Given the description of an element on the screen output the (x, y) to click on. 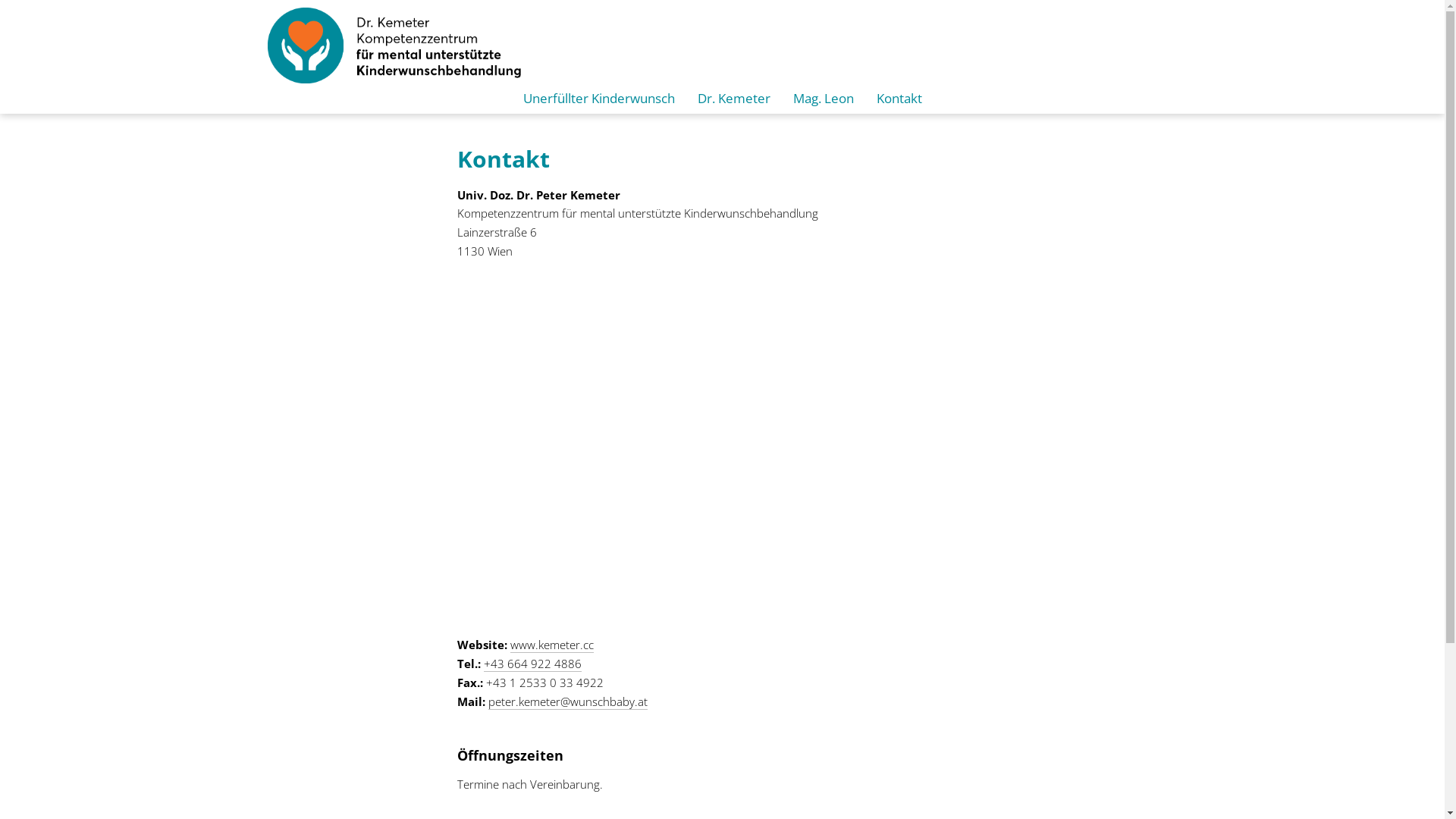
Kontakt Element type: text (899, 98)
Mag. Leon Element type: text (823, 98)
peter.kemeter@wunschbaby.at Element type: text (567, 701)
Dr. Kemeter Element type: text (734, 98)
www.kemeter.cc Element type: text (551, 644)
+43 664 922 4886 Element type: text (532, 663)
